Given the description of an element on the screen output the (x, y) to click on. 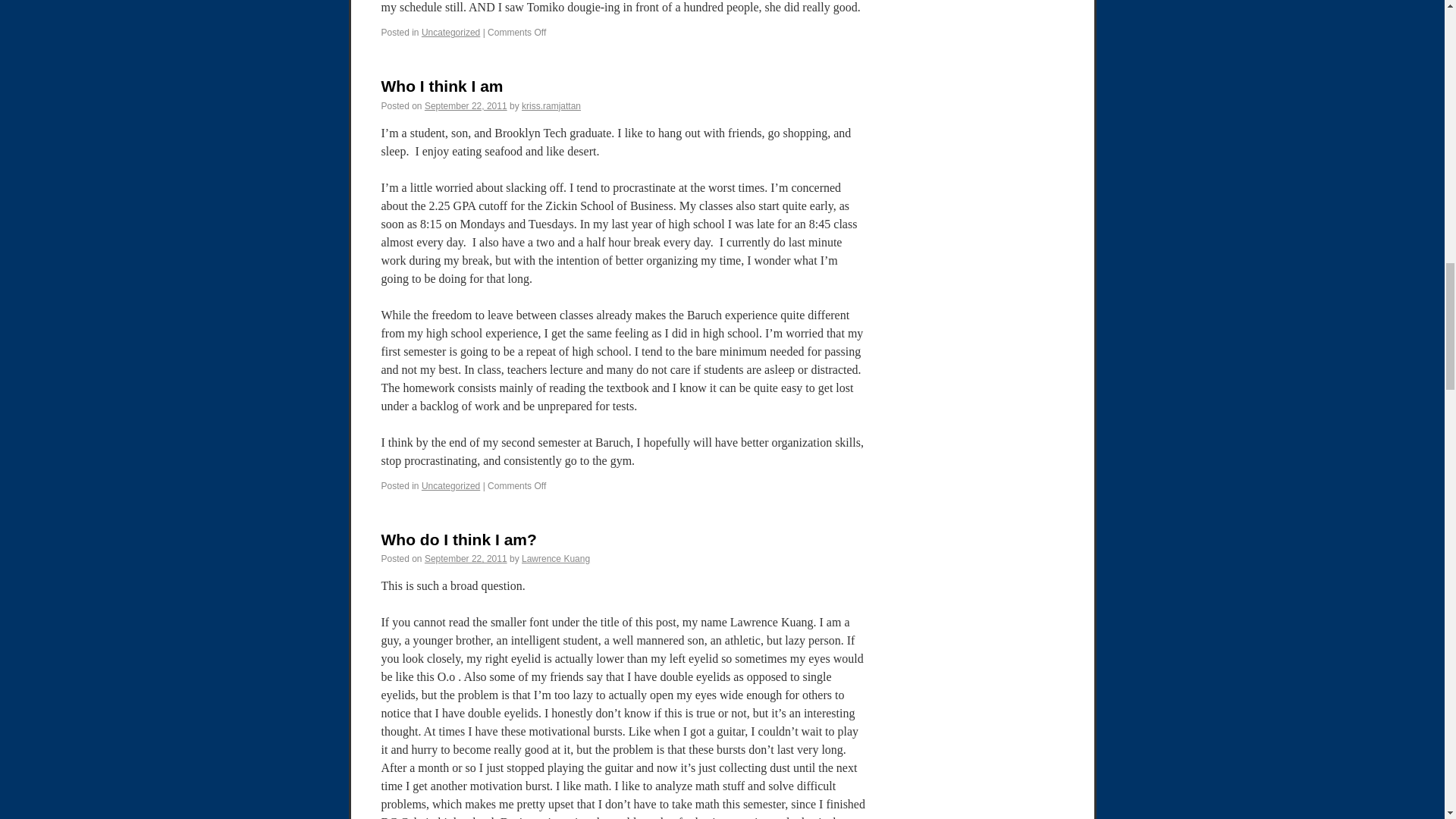
Who do I think I am? (457, 538)
Uncategorized (451, 32)
Uncategorized (451, 485)
September 22, 2011 (465, 558)
kriss.ramjattan (550, 105)
Lawrence Kuang (555, 558)
September 22, 2011 (465, 105)
Who I think I am (441, 85)
